Given the description of an element on the screen output the (x, y) to click on. 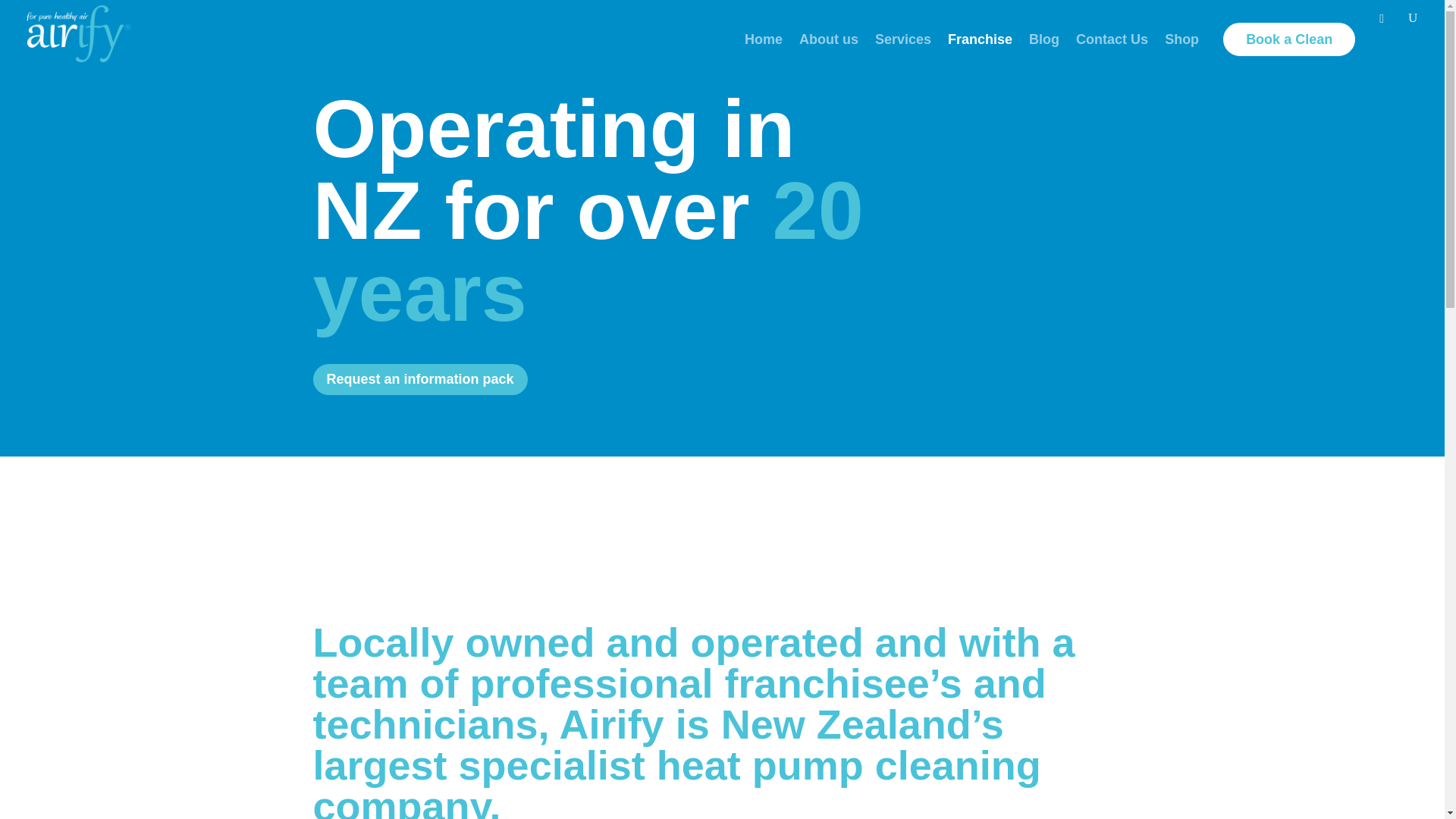
Services (903, 45)
About us (829, 45)
Request an information pack (420, 378)
Contact Us (1111, 45)
Shop (1181, 45)
Franchise (979, 45)
Blog (1044, 45)
Book a Clean (1289, 39)
Home (763, 45)
